Given the description of an element on the screen output the (x, y) to click on. 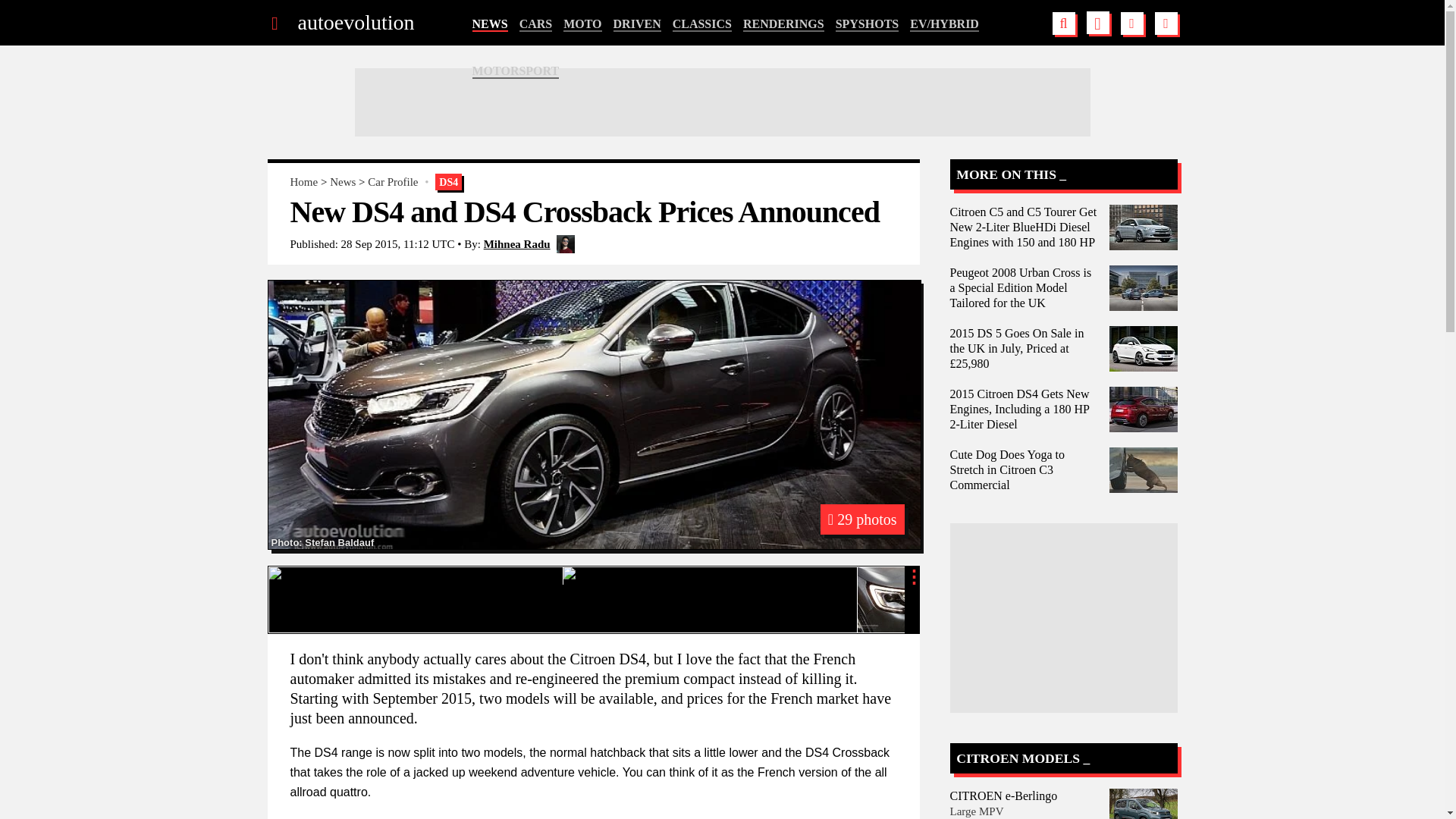
Home (303, 182)
autoevolution (355, 22)
NEWS (488, 24)
SPYSHOTS (867, 24)
CLASSICS (702, 24)
News (342, 182)
MOTO (582, 24)
RENDERINGS (783, 24)
MOTORSPORT (515, 71)
DRIVEN (636, 24)
